Given the description of an element on the screen output the (x, y) to click on. 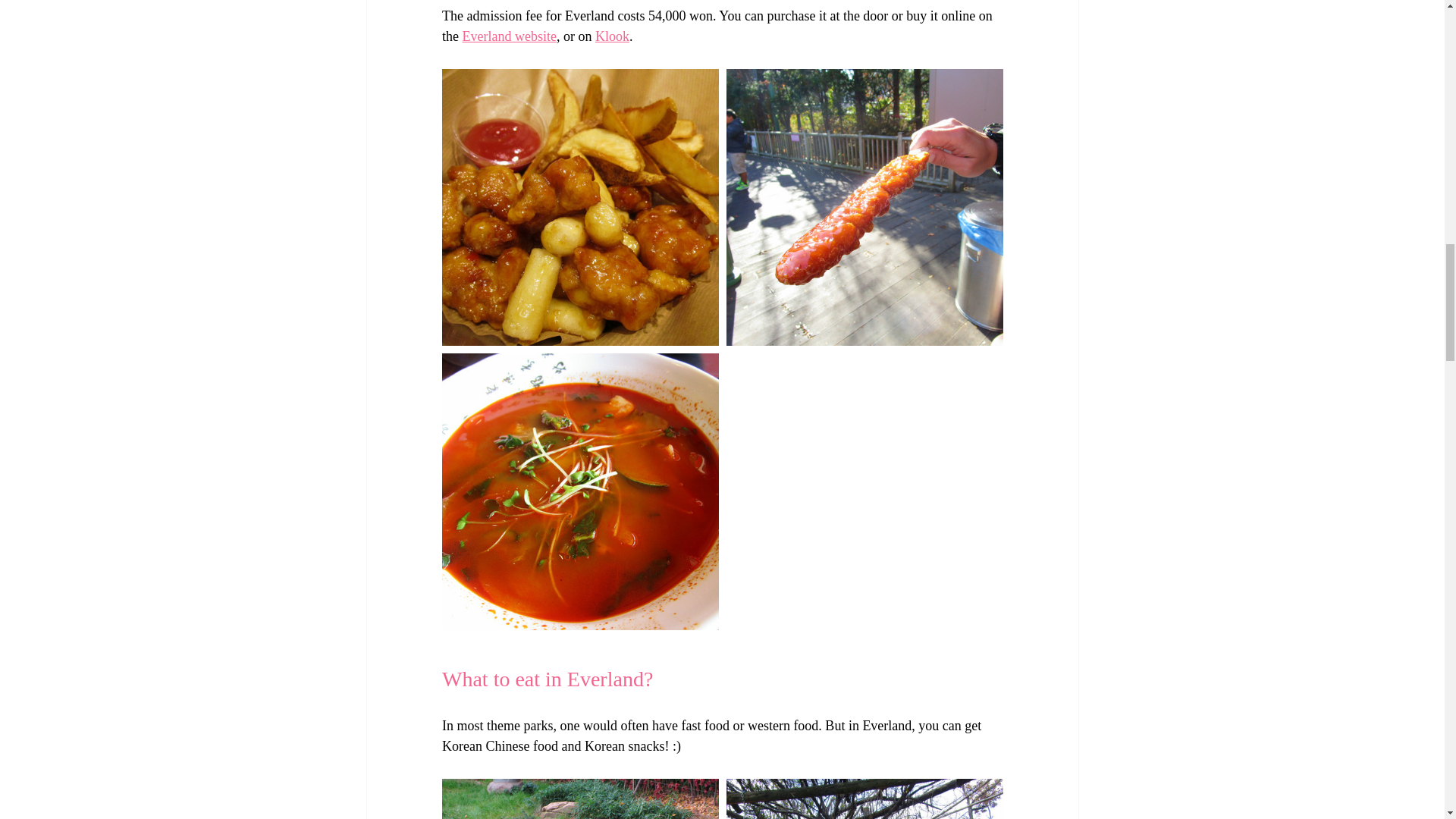
Everland website (508, 36)
Klook (611, 36)
